Given the description of an element on the screen output the (x, y) to click on. 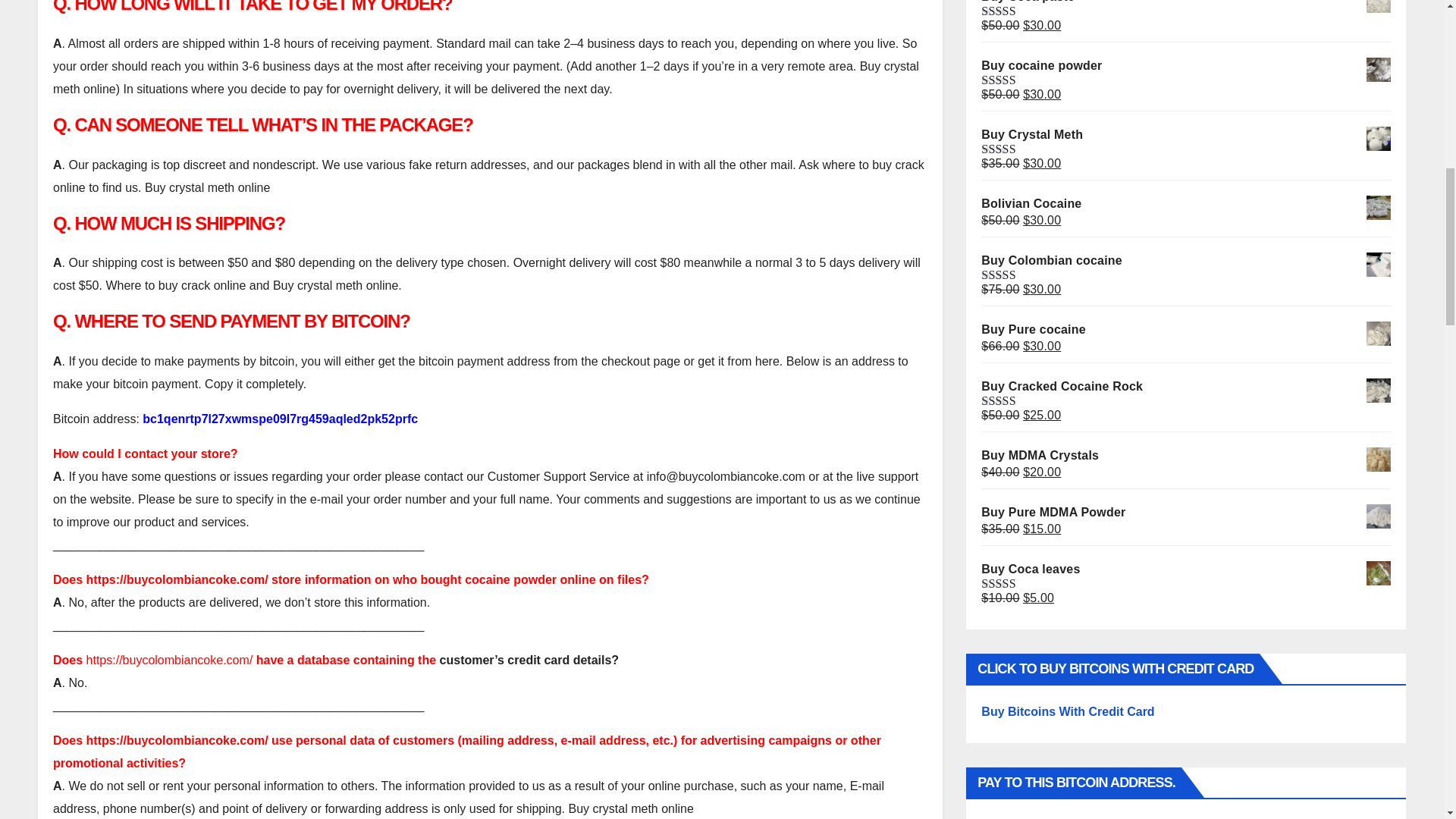
Buy Pure MDMA Powder (1185, 512)
Buy Coca paste (1185, 2)
Buy cocaine powder (1185, 65)
Buy MDMA Crystals (1185, 455)
Buy Colombian cocaine (1185, 260)
Buy Pure cocaine (1185, 329)
Bolivian Cocaine (1185, 203)
Buy Crystal Meth (1185, 134)
Buy Cracked Cocaine Rock (1185, 386)
